Given the description of an element on the screen output the (x, y) to click on. 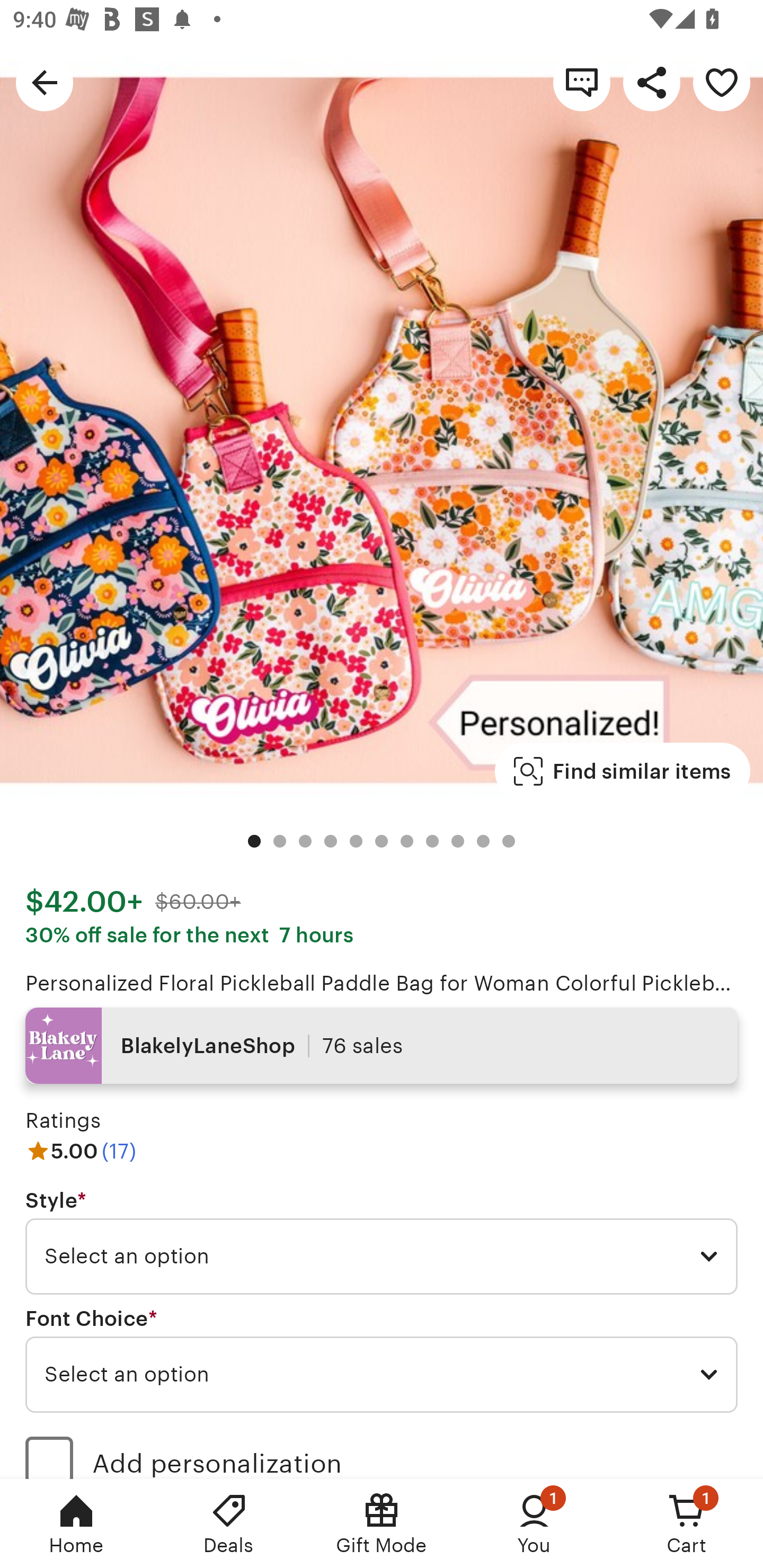
Navigate up (44, 81)
Contact shop (581, 81)
Share (651, 81)
Find similar items (622, 771)
BlakelyLaneShop 76 sales (381, 1045)
Ratings (62, 1120)
5.00 (17) (80, 1150)
Style * Required Select an option (381, 1241)
Select an option (381, 1256)
Font Choice * Required Select an option (381, 1359)
Select an option (381, 1373)
Add personalization (optional) Add personalization (381, 1451)
Deals (228, 1523)
Gift Mode (381, 1523)
You, 1 new notification You (533, 1523)
Cart, 1 new notification Cart (686, 1523)
